Given the description of an element on the screen output the (x, y) to click on. 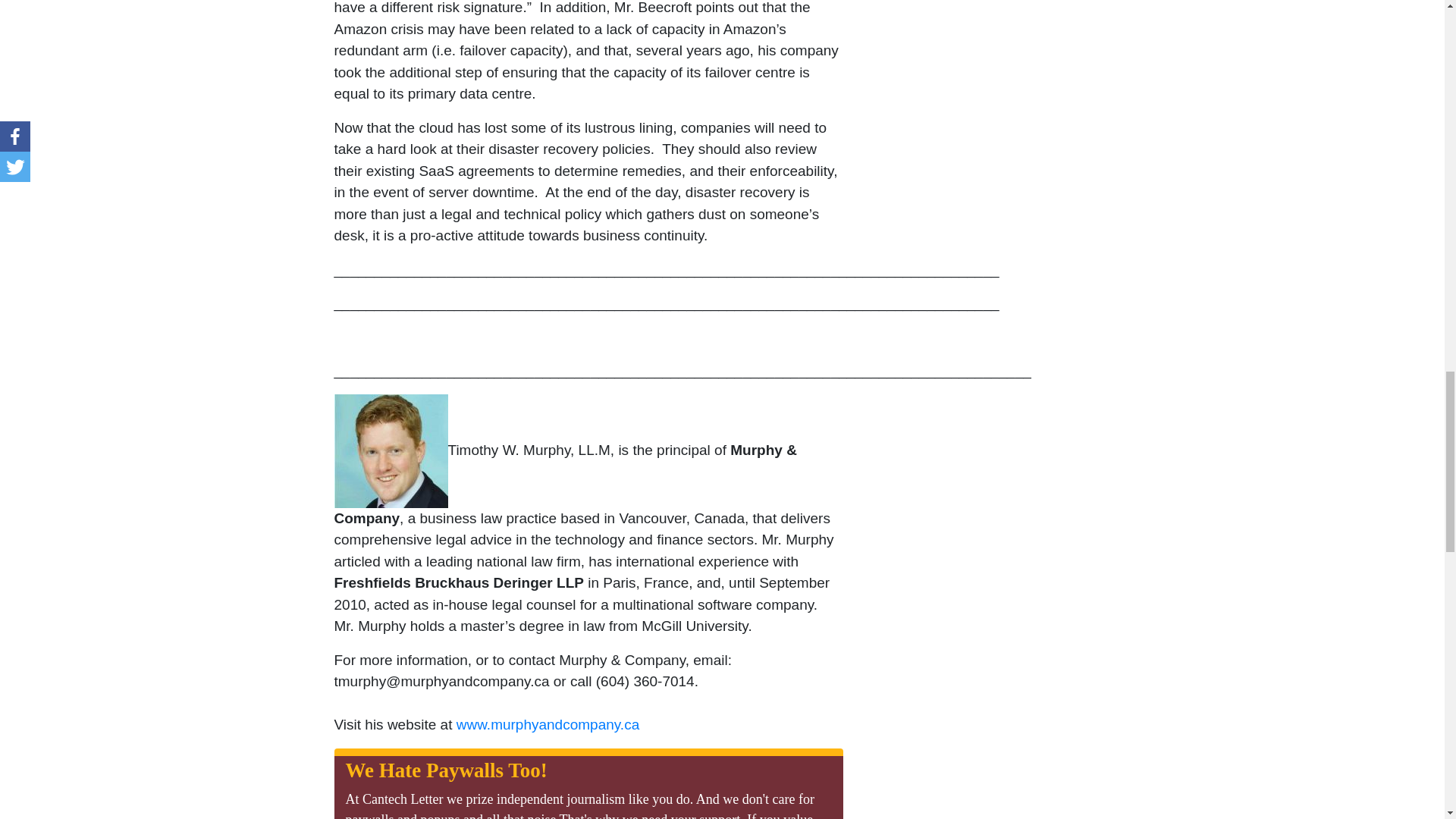
TimMurphy (389, 450)
